Given the description of an element on the screen output the (x, y) to click on. 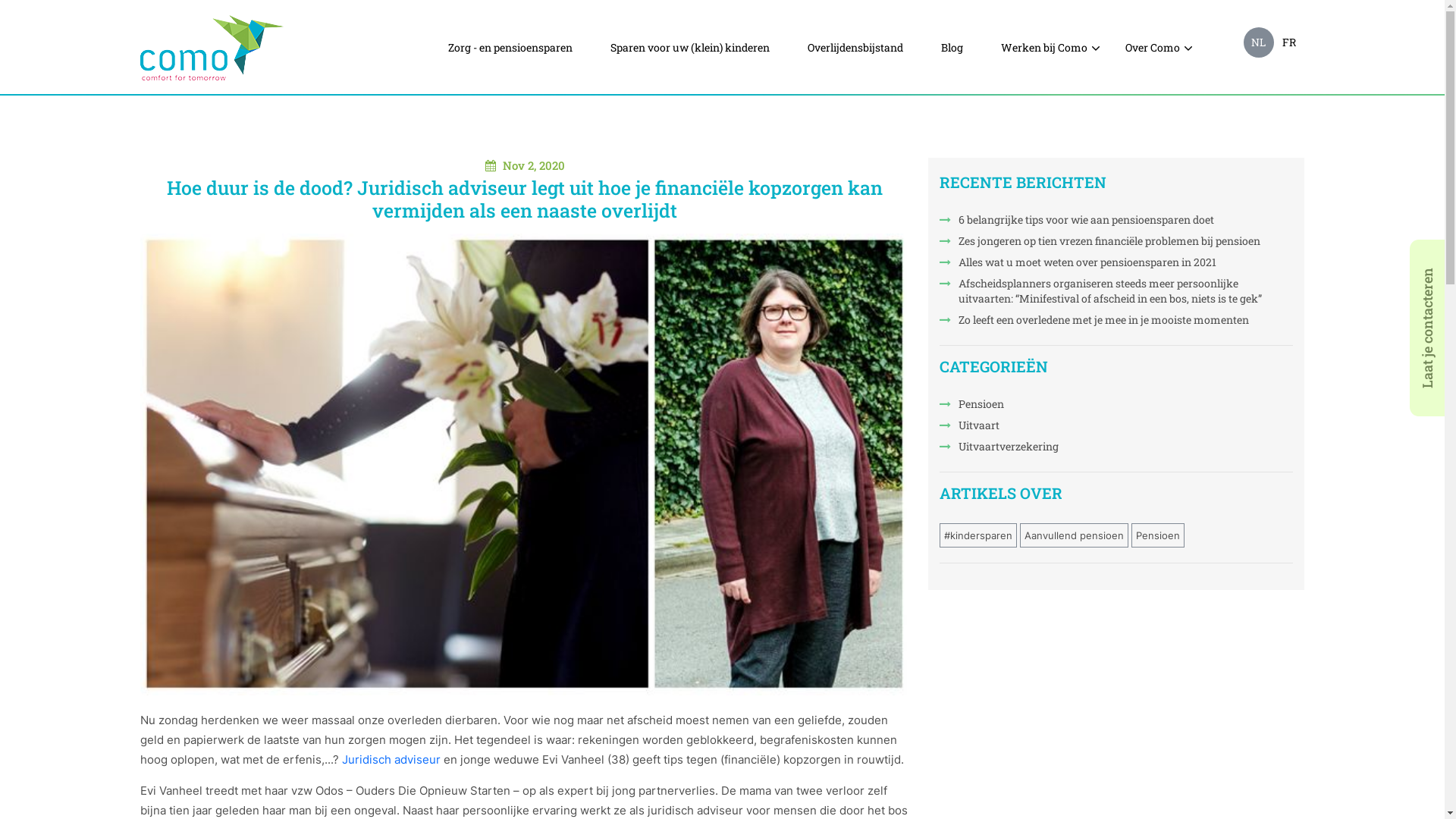
Juridisch adviseur Element type: text (390, 759)
Aanvullend pensioen Element type: text (1073, 535)
Sparen voor uw (klein) kinderen Element type: text (688, 47)
Zorg - en pensioensparen Element type: text (509, 47)
FR Element type: text (1289, 42)
Overlijdensbijstand Element type: text (854, 47)
Pensioen Element type: text (1157, 535)
Werken bij Como Element type: text (1044, 47)
Alles wat u moet weten over pensioensparen in 2021 Element type: text (1125, 261)
6 belangrijke tips voor wie aan pensioensparen doet Element type: text (1125, 219)
Uitvaartverzekering Element type: text (1125, 446)
Blog Element type: text (951, 47)
Uitvaart Element type: text (1125, 425)
Over Como Element type: text (1152, 47)
Zo leeft een overledene met je mee in je mooiste momenten Element type: text (1125, 319)
#kindersparen Element type: text (977, 535)
NL Element type: text (1258, 42)
Pensioen Element type: text (1125, 403)
